Given the description of an element on the screen output the (x, y) to click on. 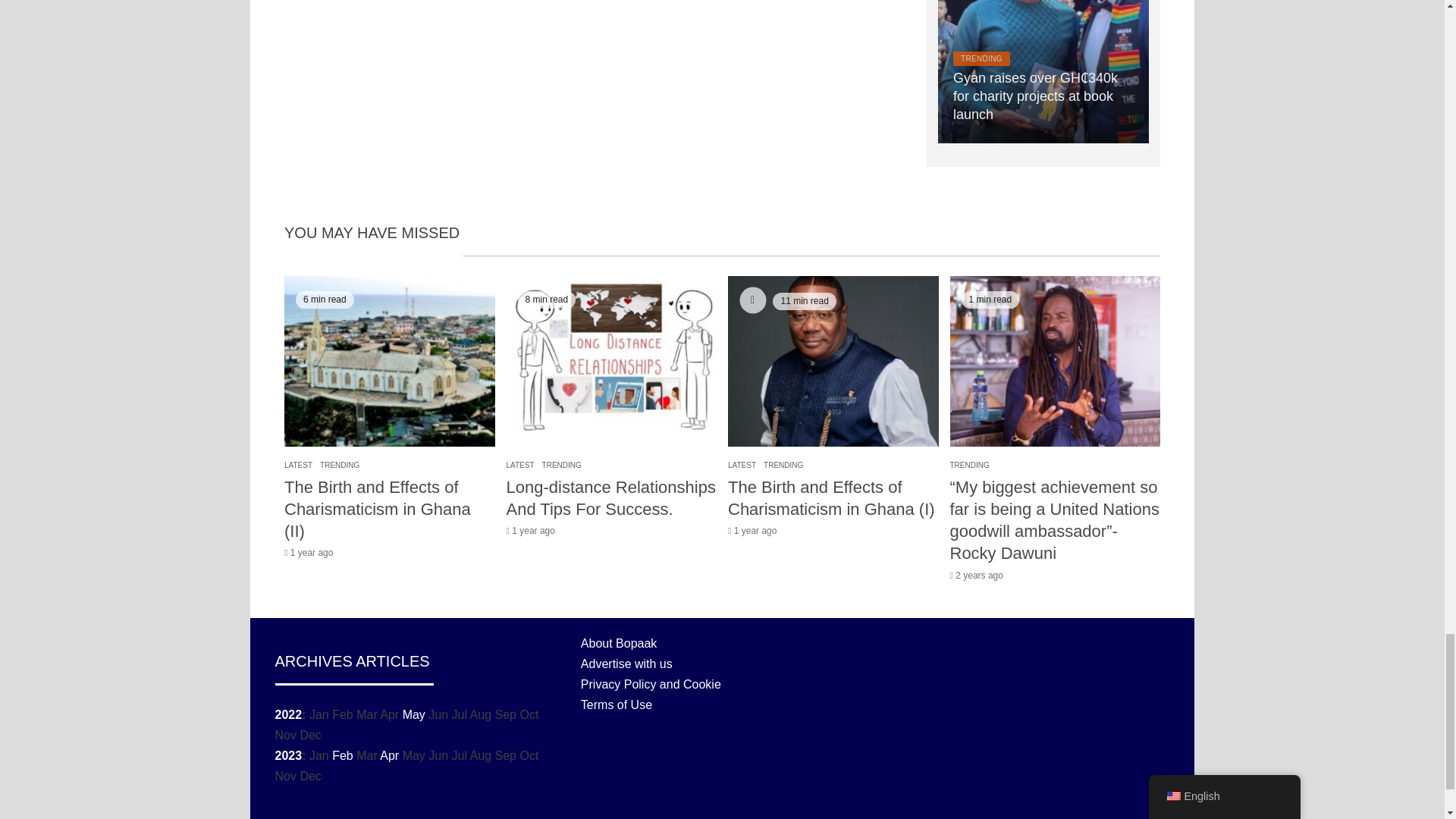
February 2009 (342, 755)
May 2009 (414, 714)
April 2009 (389, 755)
